Given the description of an element on the screen output the (x, y) to click on. 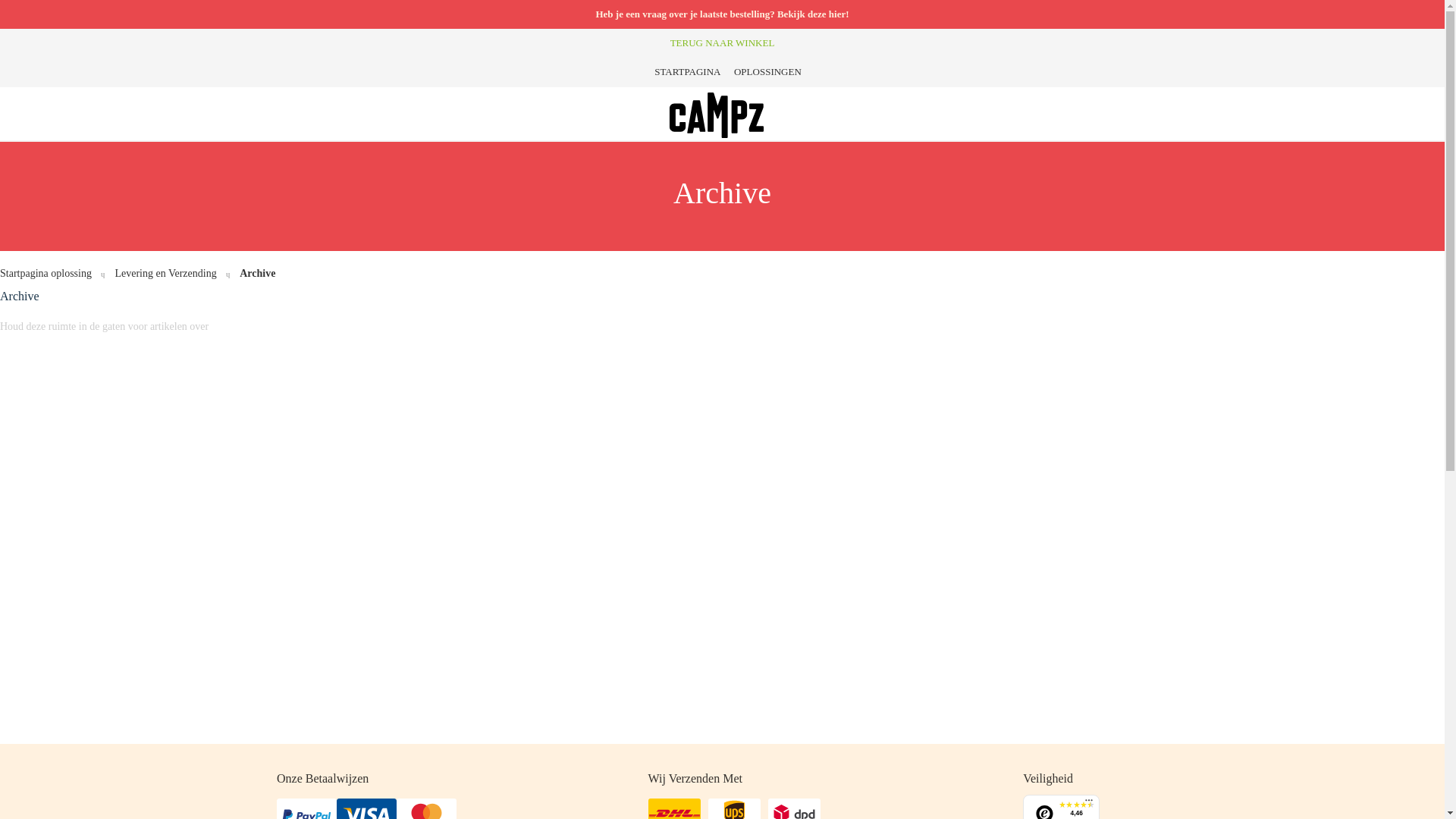
Archive Element type: text (249, 273)
TERUG NAAR WINKEL Element type: text (722, 42)
STARTPAGINA Element type: text (681, 71)
Levering en Verzending Element type: text (157, 273)
Startpagina oplossing Element type: text (47, 273)
CAMPZ Online kampeerwinkel en outdoor winkel Element type: hover (716, 115)
OPLOSSINGEN Element type: text (761, 71)
